Given the description of an element on the screen output the (x, y) to click on. 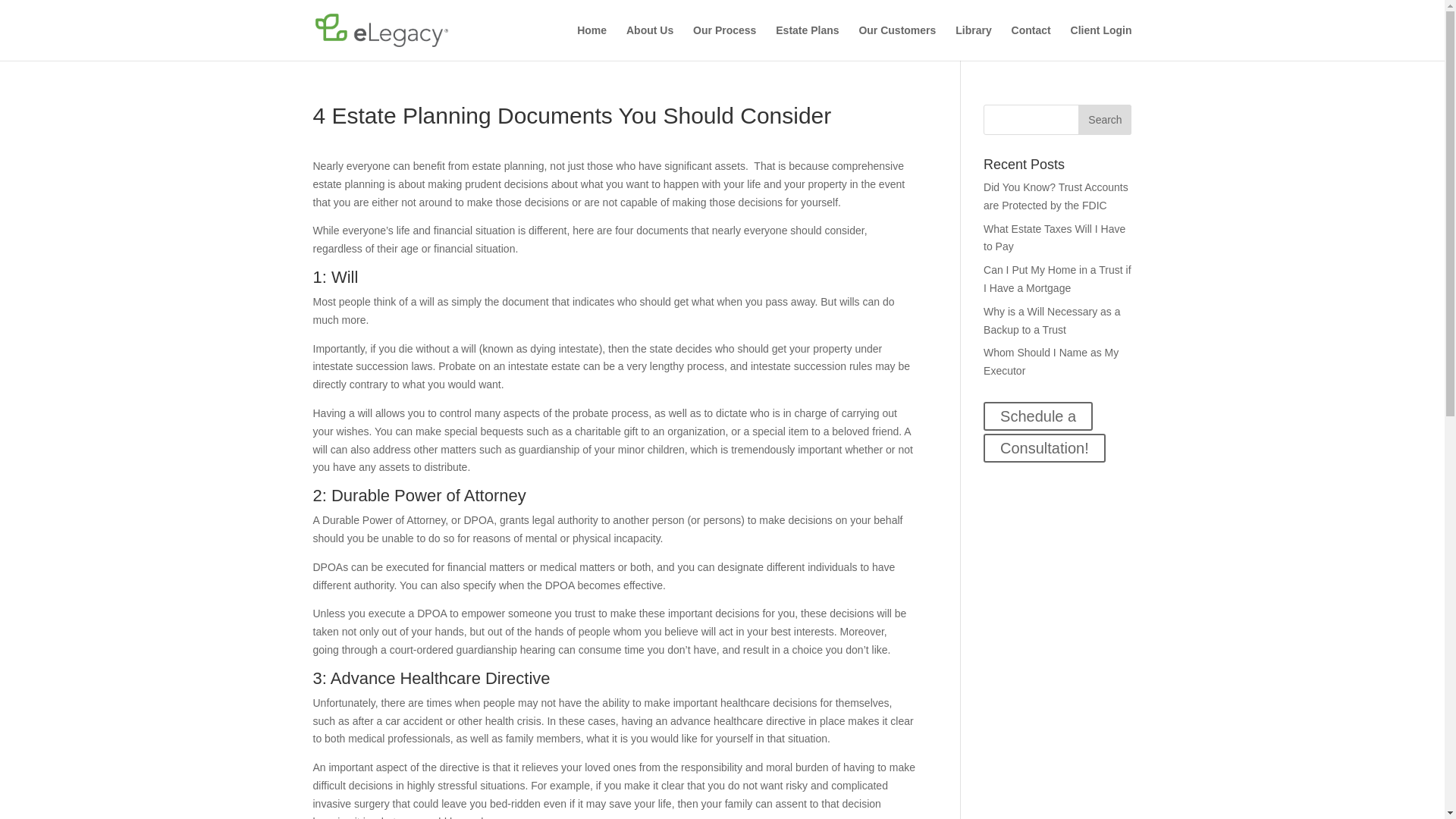
Our Process (724, 42)
Estate Plans (807, 42)
Client Login (1101, 42)
Contact (1031, 42)
Whom Should I Name as My Executor (1051, 361)
Can I Put My Home in a Trust if I Have a Mortgage (1057, 278)
Search (1104, 119)
Schedule a (1038, 416)
Search (1104, 119)
About Us (649, 42)
Did You Know? Trust Accounts are Protected by the FDIC (1056, 195)
Consultation! (1044, 448)
Library (973, 42)
What Estate Taxes Will I Have to Pay (1054, 237)
Why is a Will Necessary as a Backup to a Trust (1051, 320)
